Given the description of an element on the screen output the (x, y) to click on. 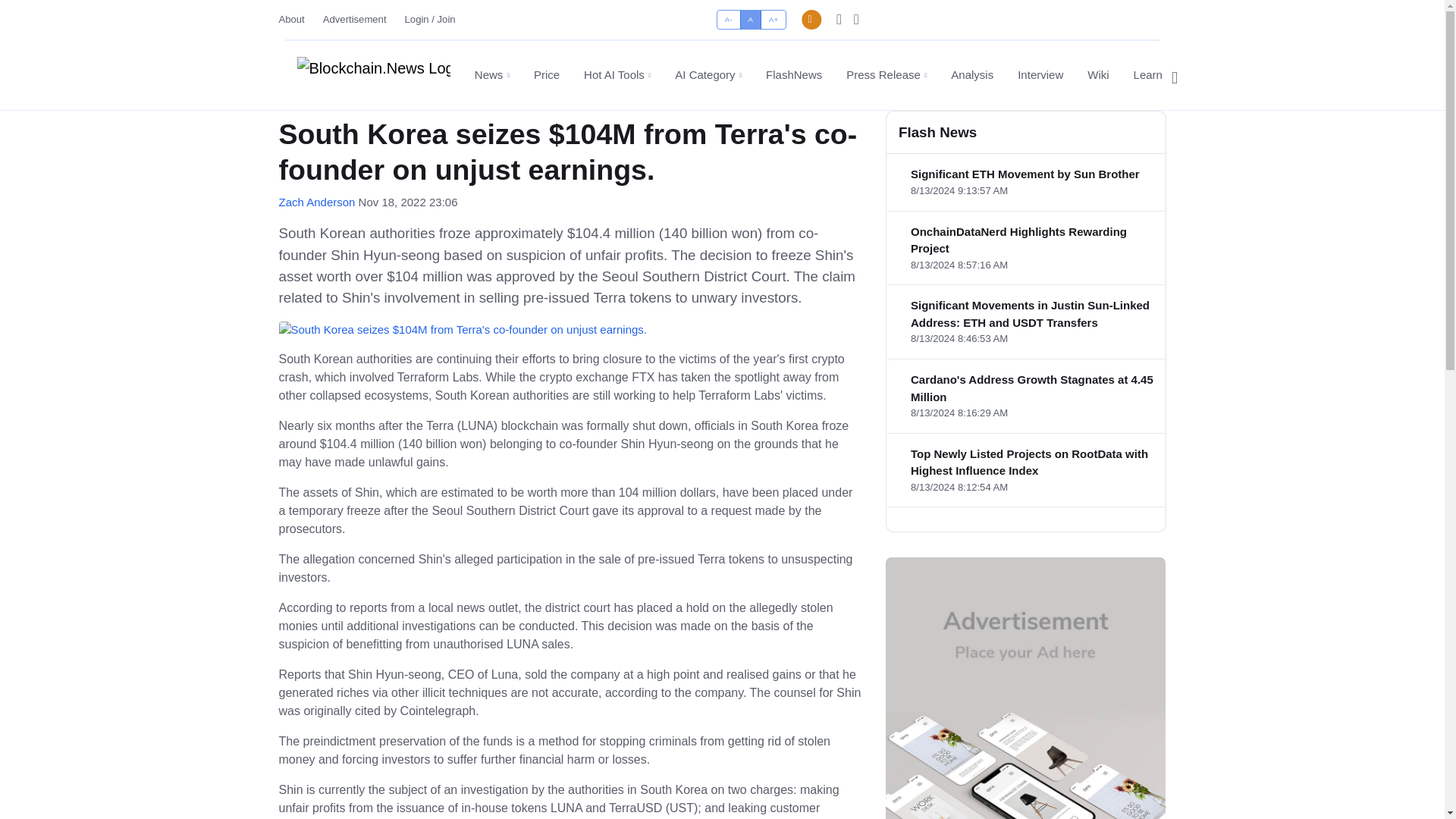
About (296, 19)
on (721, 14)
on (721, 14)
on (721, 14)
Advertisement (355, 19)
Hot AI Tools (617, 74)
